Given the description of an element on the screen output the (x, y) to click on. 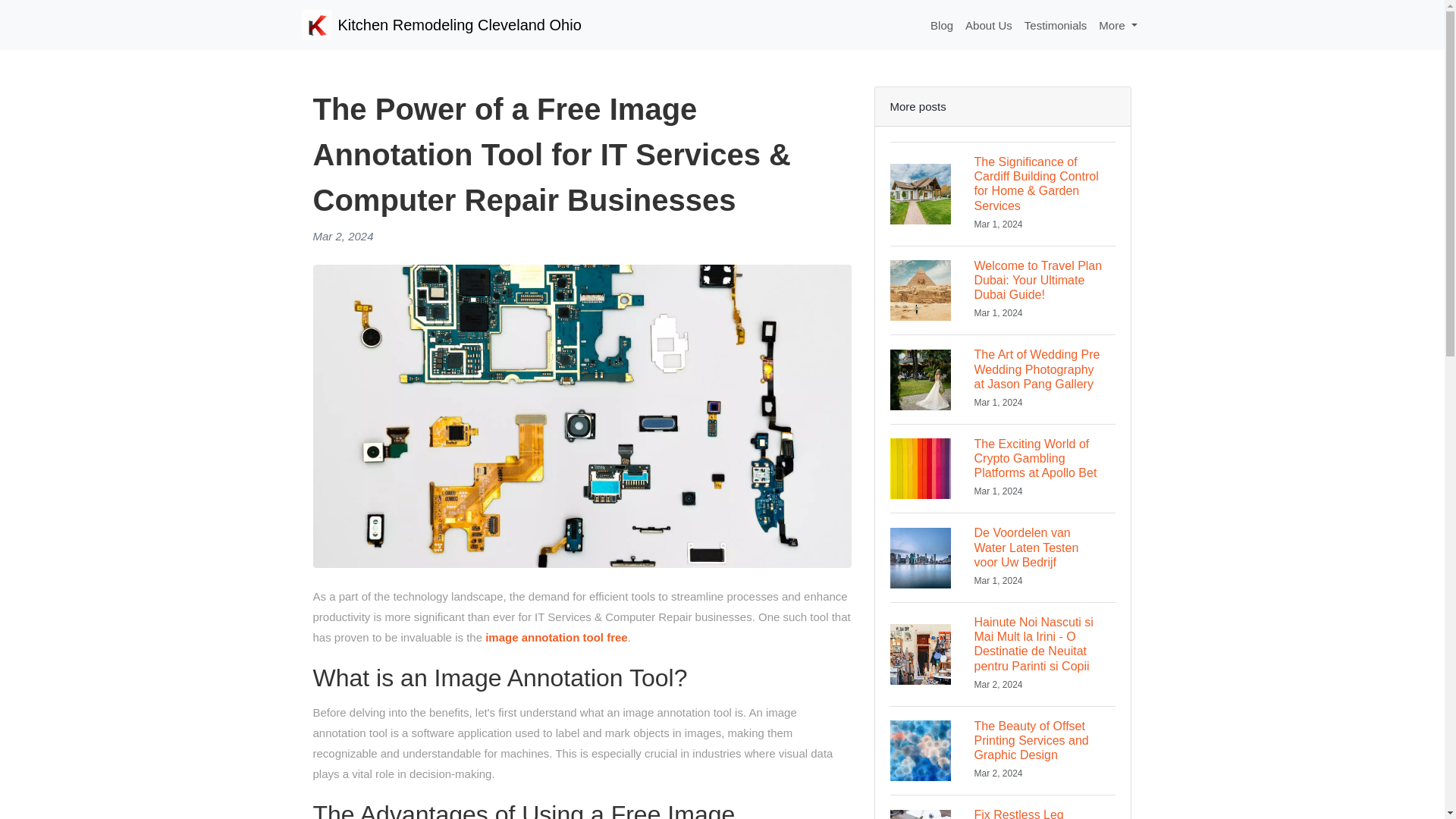
About Us (988, 25)
Blog (941, 25)
Testimonials (1055, 25)
Kitchen Remodeling Cleveland Ohio (440, 24)
image annotation tool free (555, 636)
More (1117, 25)
